Given the description of an element on the screen output the (x, y) to click on. 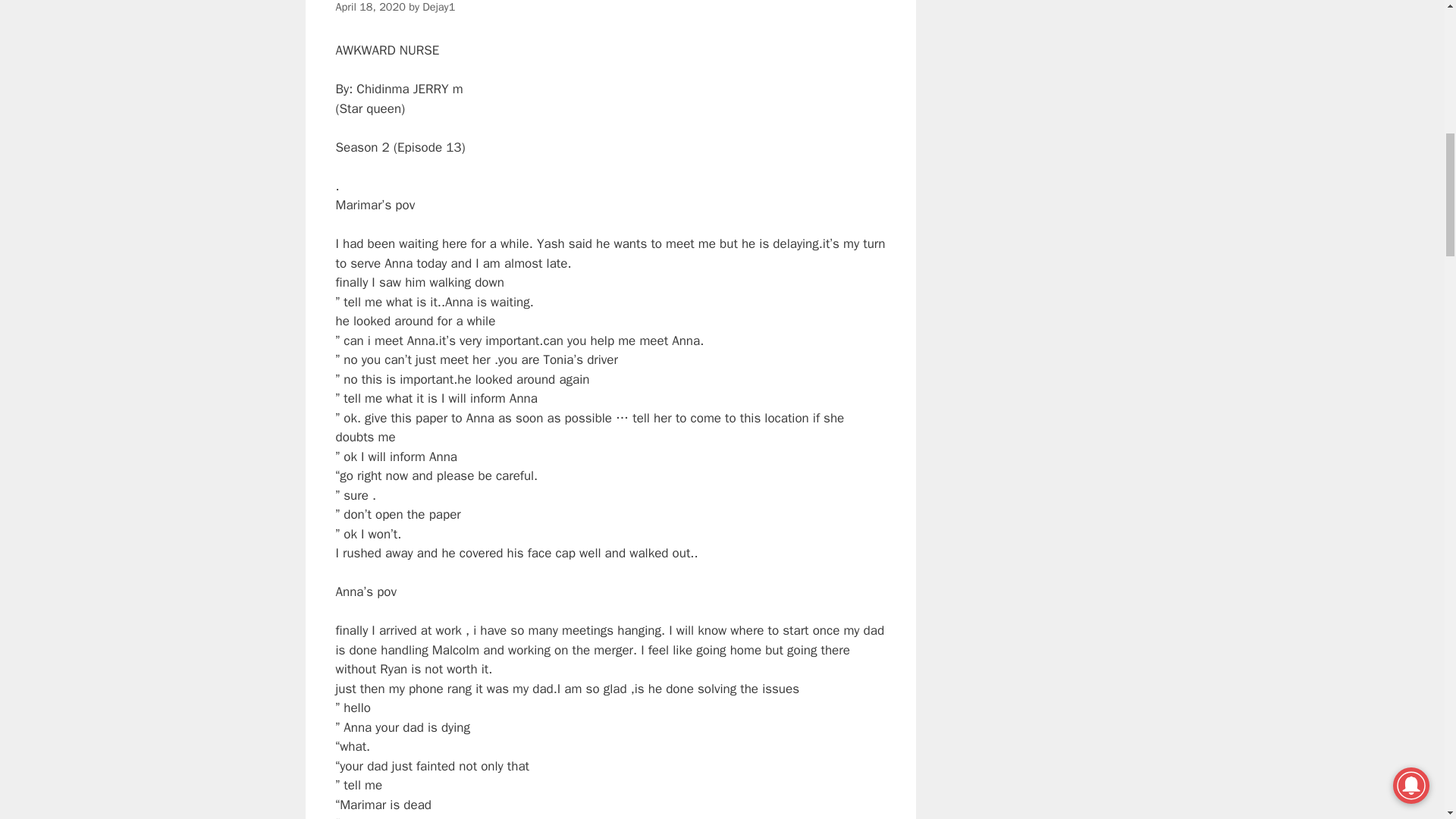
View all posts by Dejay1 (438, 6)
Dejay1 (438, 6)
